Given the description of an element on the screen output the (x, y) to click on. 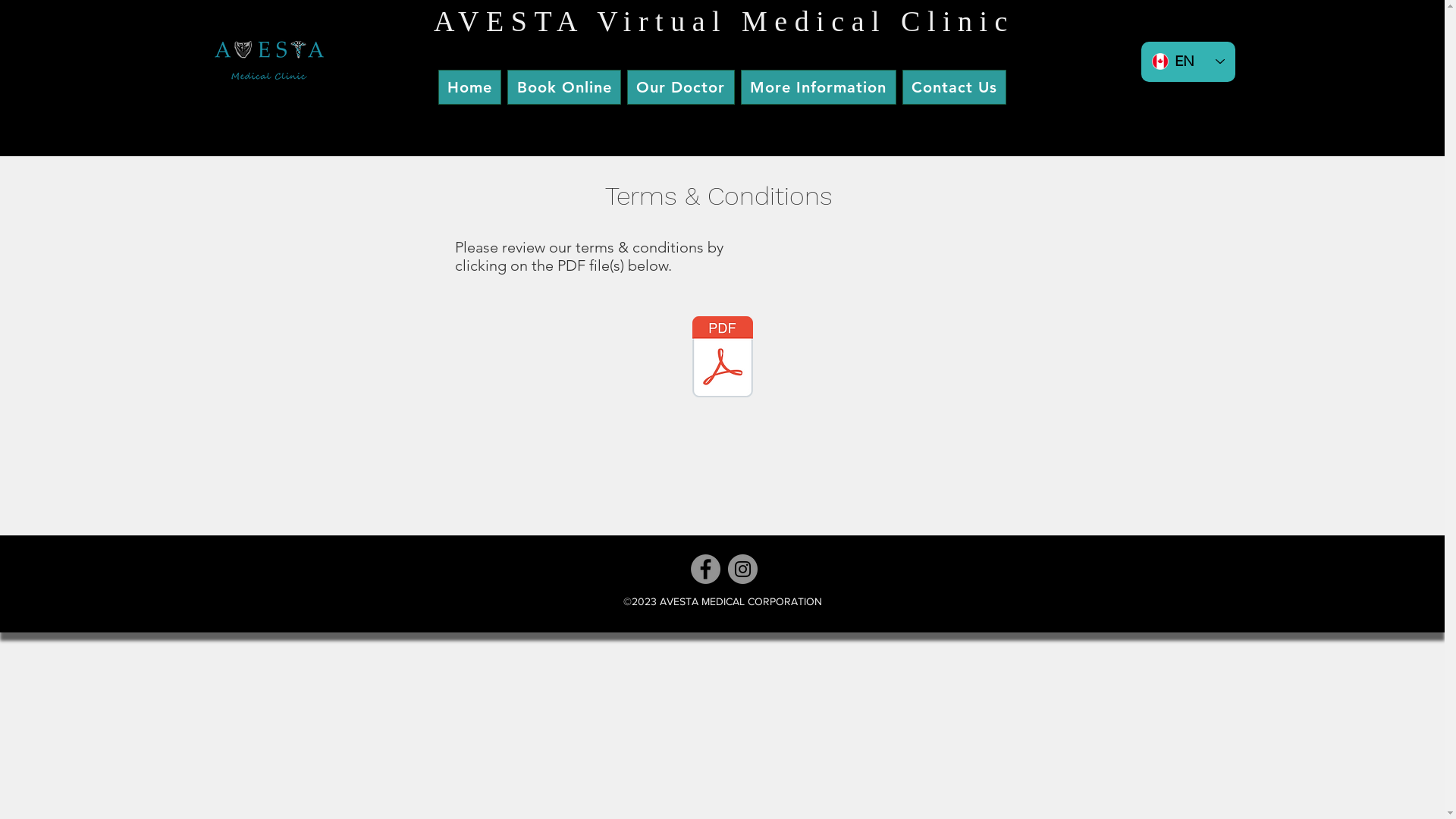
More Information Element type: text (818, 86)
Contact Us Element type: text (954, 86)
Book Online Element type: text (564, 86)
AVESTA Virtual Medical Clinic Element type: text (723, 21)
Our Doctor Element type: text (680, 86)
Clinic policy-Version001-11Apri2020.pdf Element type: hover (722, 358)
Home Element type: text (470, 86)
